Given the description of an element on the screen output the (x, y) to click on. 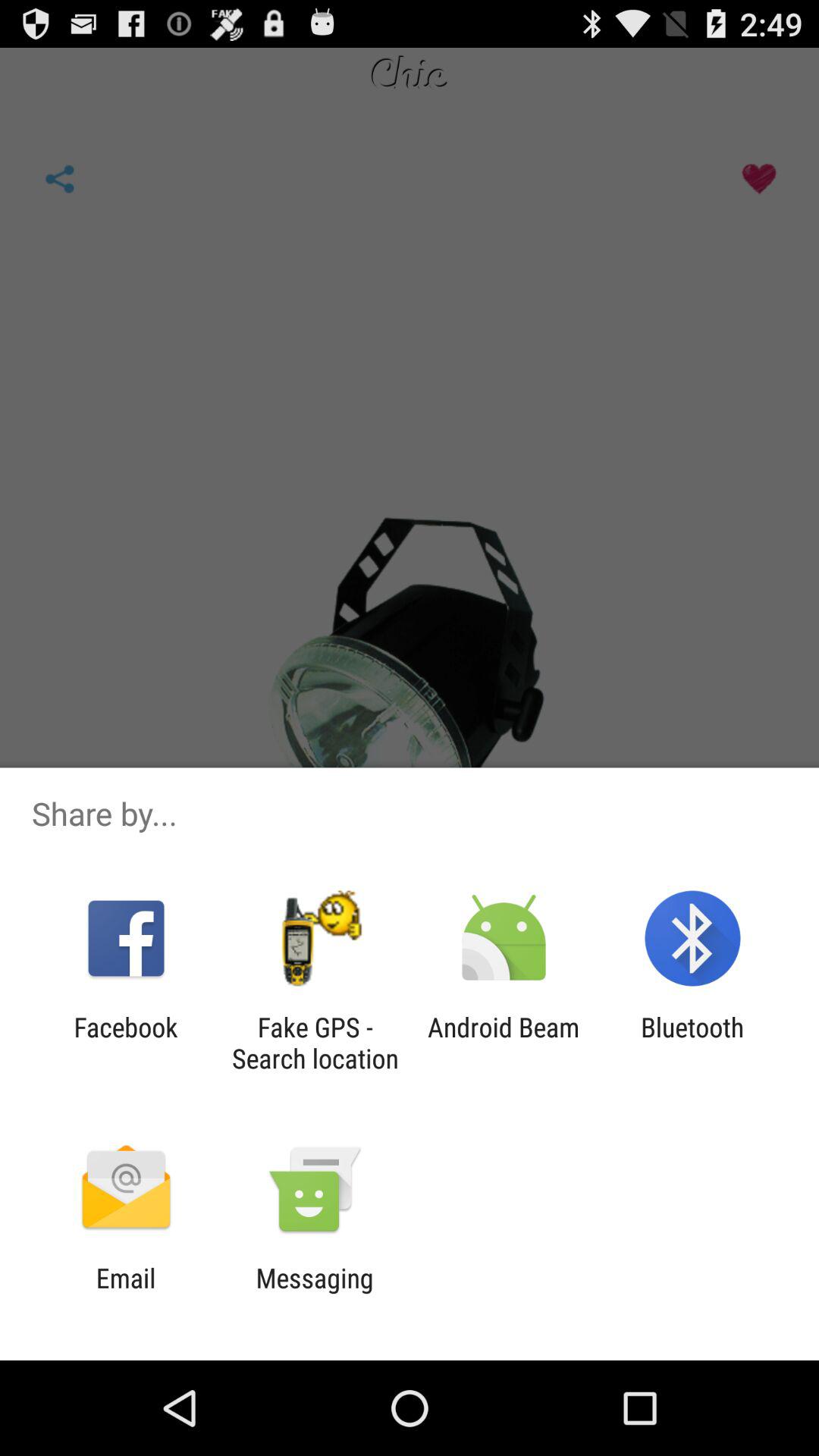
select the app to the left of the fake gps search (125, 1042)
